Given the description of an element on the screen output the (x, y) to click on. 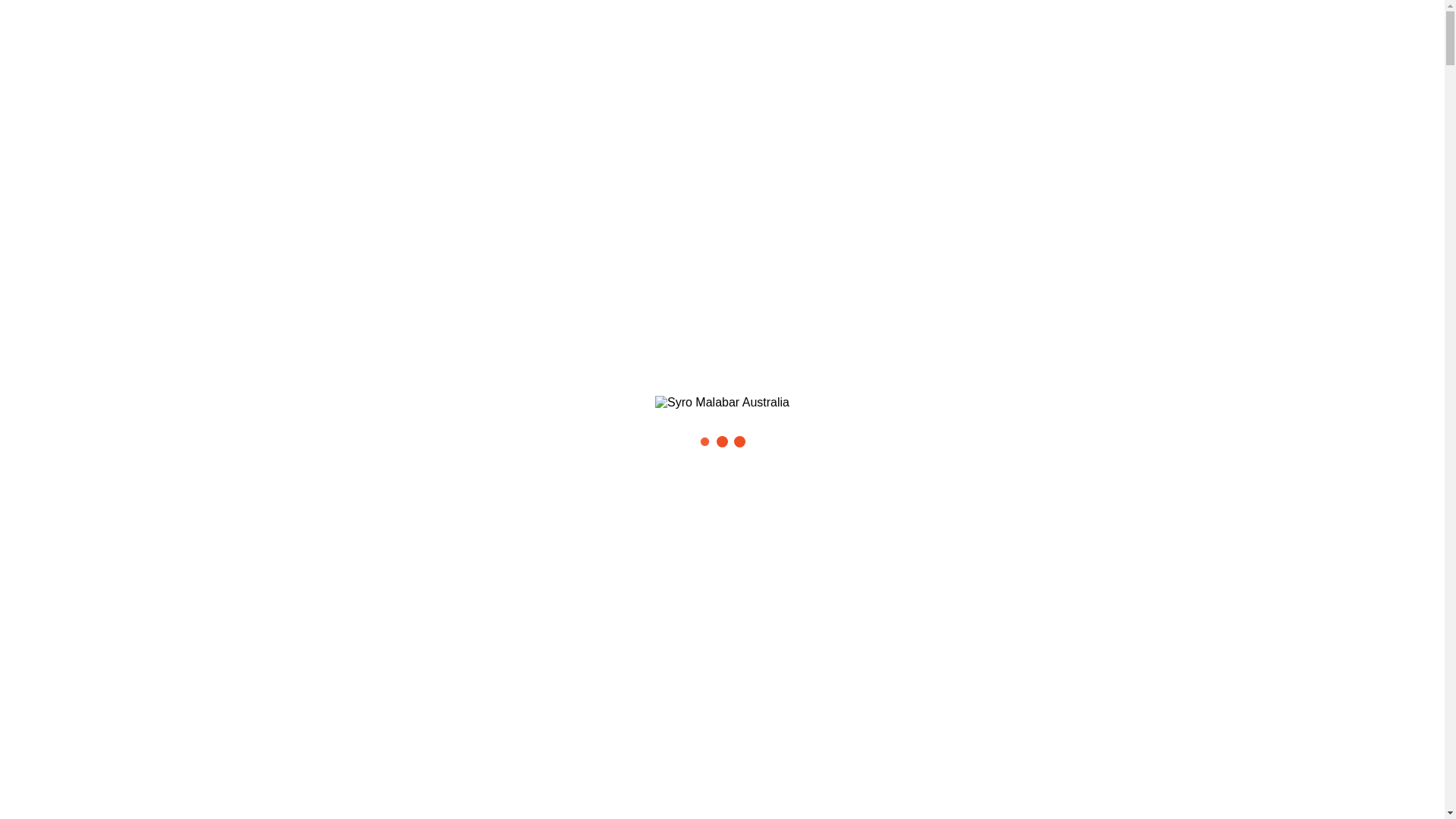
office.melbourne@syromalabar.org.au Element type: text (333, 7)
03 8313 3678 Element type: text (174, 7)
